Given the description of an element on the screen output the (x, y) to click on. 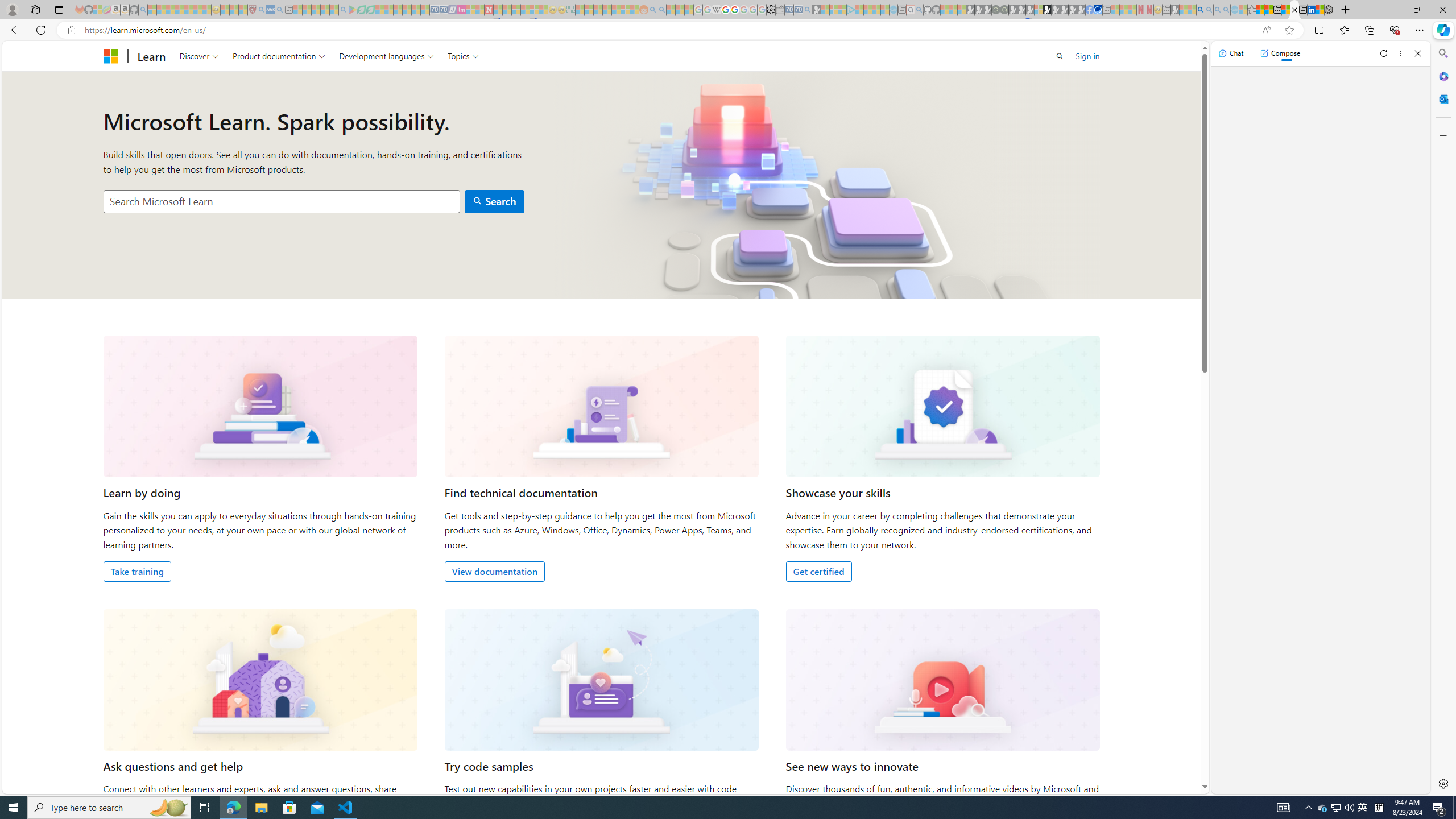
Open search (1059, 55)
Learn (151, 56)
